Given the description of an element on the screen output the (x, y) to click on. 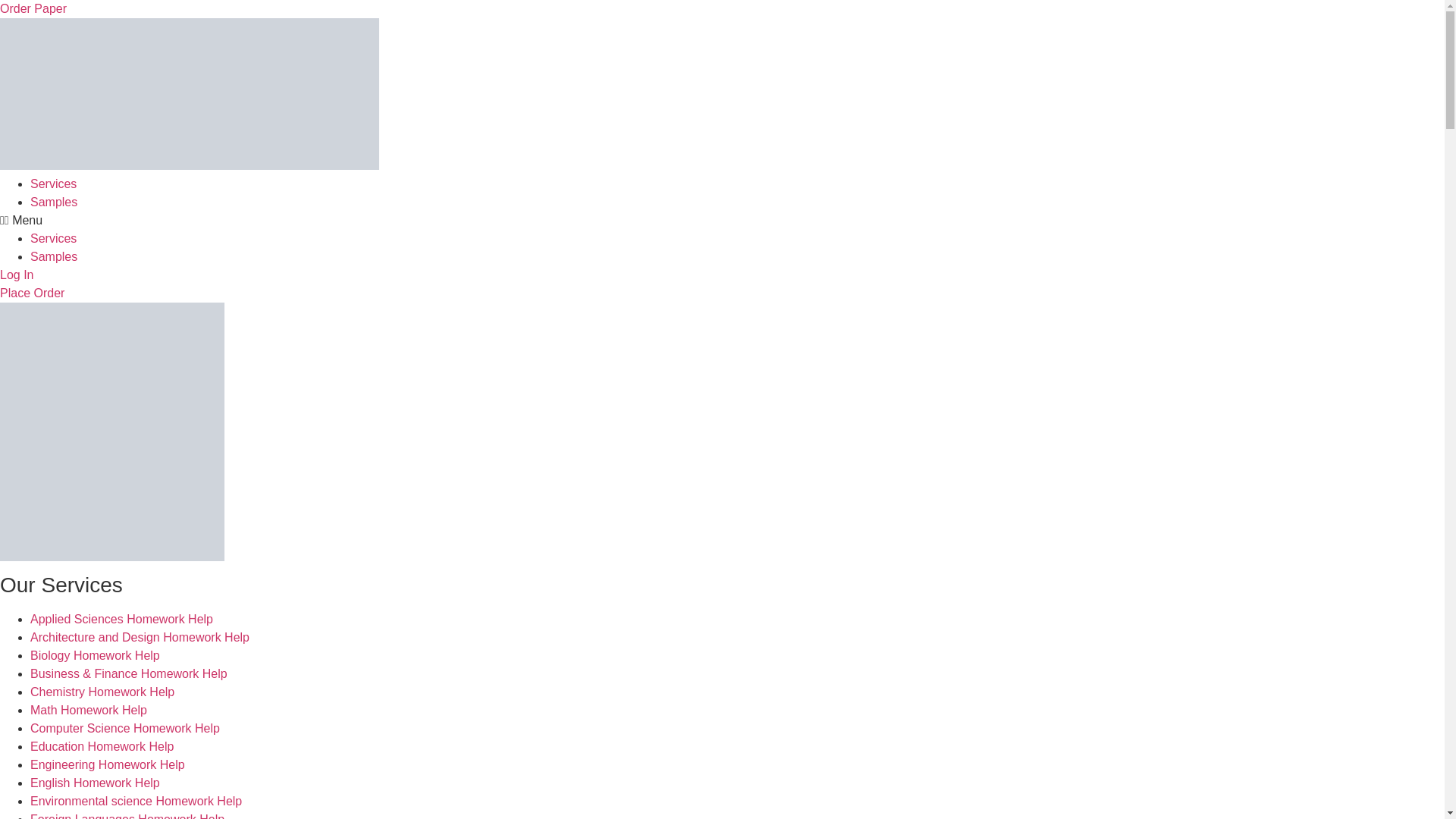
Place Order (32, 292)
Engineering Homework Help (107, 764)
Services (53, 237)
Biology Homework Help (95, 655)
Applied Sciences Homework Help (121, 618)
Log In (16, 274)
pic test 2 (189, 93)
Math Homework Help (88, 709)
Environmental science Homework Help (135, 800)
Chemistry Homework Help (102, 691)
